Given the description of an element on the screen output the (x, y) to click on. 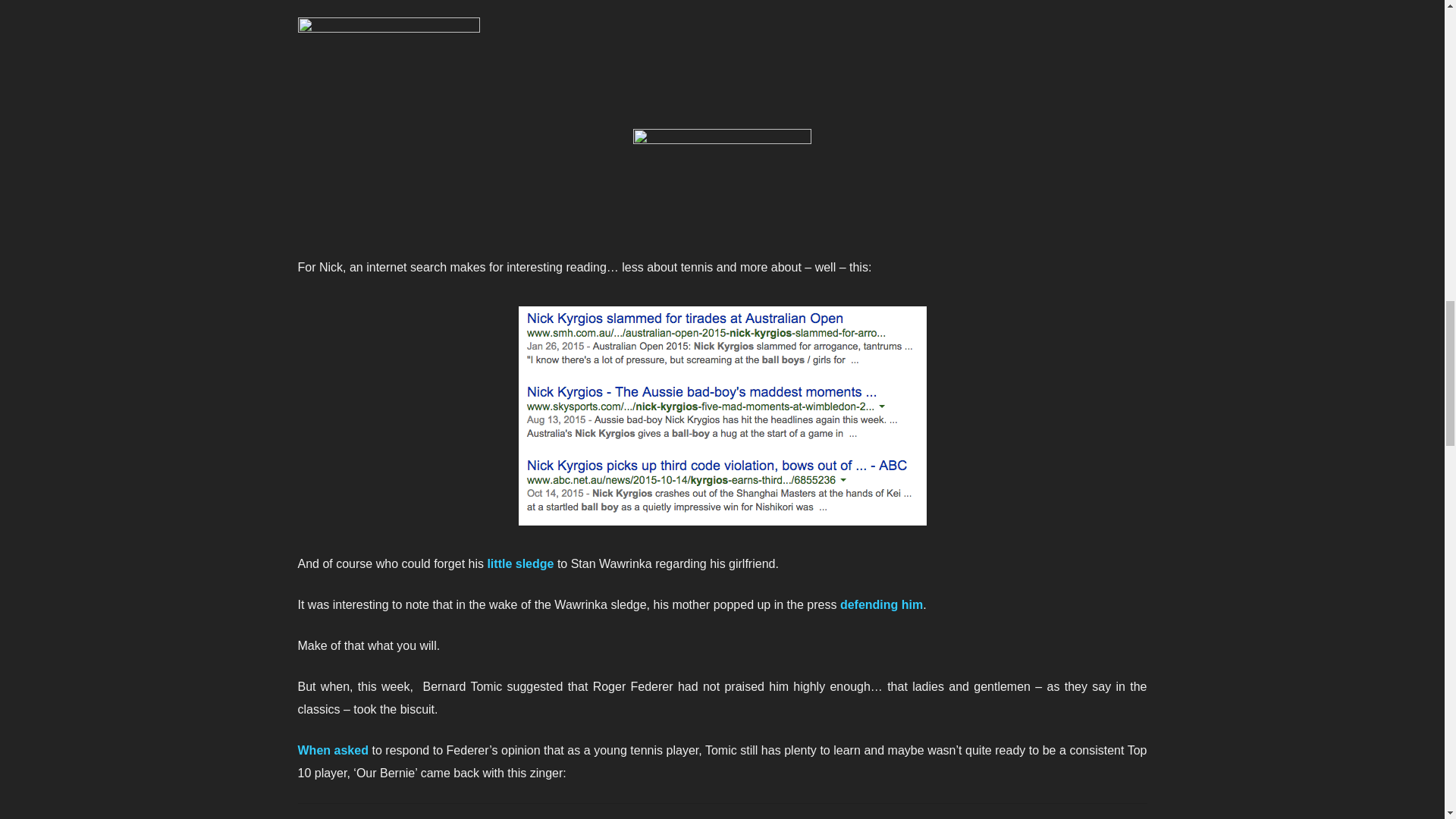
When asked (332, 749)
little sledge (519, 563)
defending him (881, 604)
